Given the description of an element on the screen output the (x, y) to click on. 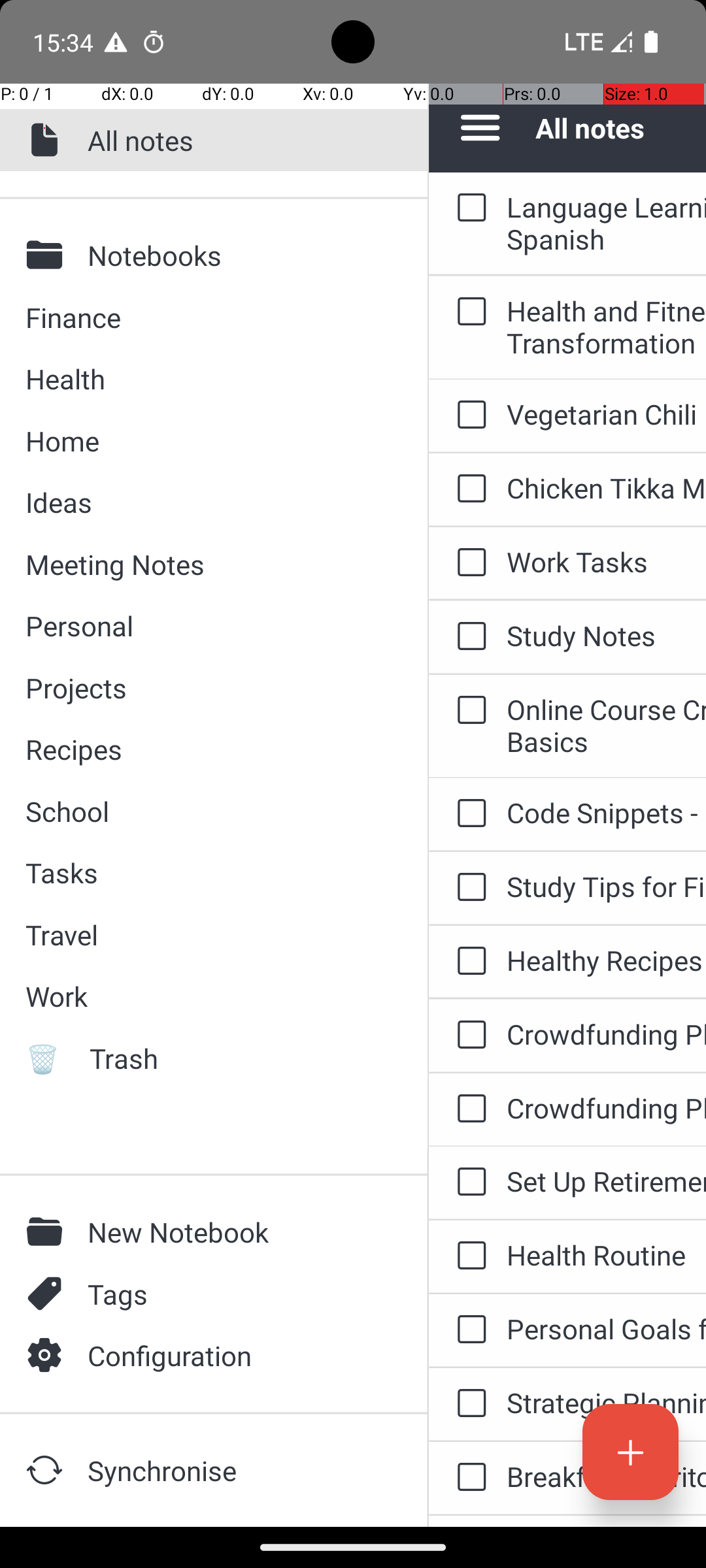
 Element type: android.widget.TextView (47, 254)
Notebooks Element type: android.widget.TextView (235, 254)
 Element type: android.widget.TextView (47, 1231)
New Notebook Element type: android.widget.TextView (235, 1231)
 Element type: android.widget.TextView (47, 1293)
Tags Element type: android.widget.TextView (235, 1293)
 Element type: android.widget.TextView (47, 1354)
Configuration Element type: android.widget.TextView (235, 1354)
 Element type: android.widget.TextView (47, 1469)
Synchronise Element type: android.widget.TextView (235, 1469)
to-do: Language Learning Project - Conversational Spanish Element type: android.widget.CheckBox (467, 208)
Language Learning Project - Conversational Spanish Element type: android.widget.TextView (606, 222)
to-do: Health and Fitness Challenge - 30-Day Transformation Element type: android.widget.CheckBox (467, 312)
Health and Fitness Challenge - 30-Day Transformation Element type: android.widget.TextView (606, 326)
to-do: Vegetarian Chili Element type: android.widget.CheckBox (467, 415)
Vegetarian Chili Element type: android.widget.TextView (606, 413)
to-do: Chicken Tikka Masala Element type: android.widget.CheckBox (467, 489)
Chicken Tikka Masala Element type: android.widget.TextView (606, 487)
to-do: Work Tasks Element type: android.widget.CheckBox (467, 563)
Work Tasks Element type: android.widget.TextView (606, 561)
to-do: Study Notes Element type: android.widget.CheckBox (467, 637)
Study Notes Element type: android.widget.TextView (606, 634)
to-do: Online Course Creation - Web Development Basics Element type: android.widget.CheckBox (467, 710)
Online Course Creation - Web Development Basics Element type: android.widget.TextView (606, 724)
to-do: Study Tips for Final Exams Element type: android.widget.CheckBox (467, 887)
Study Tips for Final Exams Element type: android.widget.TextView (606, 885)
to-do: Healthy Recipes to Try Element type: android.widget.CheckBox (467, 961)
Healthy Recipes to Try Element type: android.widget.TextView (606, 959)
to-do: Crowdfunding Platform for Creative Projects Element type: android.widget.CheckBox (467, 1035)
Crowdfunding Platform for Creative Projects Element type: android.widget.TextView (606, 1033)
to-do: Set Up Retirement Account Element type: android.widget.CheckBox (467, 1182)
Set Up Retirement Account Element type: android.widget.TextView (606, 1180)
to-do: Health Routine Element type: android.widget.CheckBox (467, 1256)
Health Routine Element type: android.widget.TextView (606, 1254)
to-do: Personal Goals for the Year Element type: android.widget.CheckBox (467, 1330)
Personal Goals for the Year Element type: android.widget.TextView (606, 1328)
to-do: Strategic Planning Meeting - January 24, 2024 Element type: android.widget.CheckBox (467, 1403)
Strategic Planning Meeting - January 24, 2024 Element type: android.widget.TextView (606, 1402)
to-do: Breakfast Burritos Element type: android.widget.CheckBox (467, 1477)
Breakfast Burritos Element type: android.widget.TextView (606, 1475)
 Element type: android.widget.TextView (47, 139)
Finance Element type: android.widget.TextView (213, 316)
Health Element type: android.widget.TextView (213, 378)
Ideas Element type: android.widget.TextView (213, 501)
Meeting Notes Element type: android.widget.TextView (213, 563)
Personal Element type: android.widget.TextView (213, 625)
Recipes Element type: android.widget.TextView (213, 748)
School Element type: android.widget.TextView (213, 810)
Travel Element type: android.widget.TextView (213, 934)
Work Element type: android.widget.TextView (213, 995)
🗑️ Element type: android.widget.TextView (48, 1057)
Trash Element type: android.widget.TextView (245, 1057)
